Given the description of an element on the screen output the (x, y) to click on. 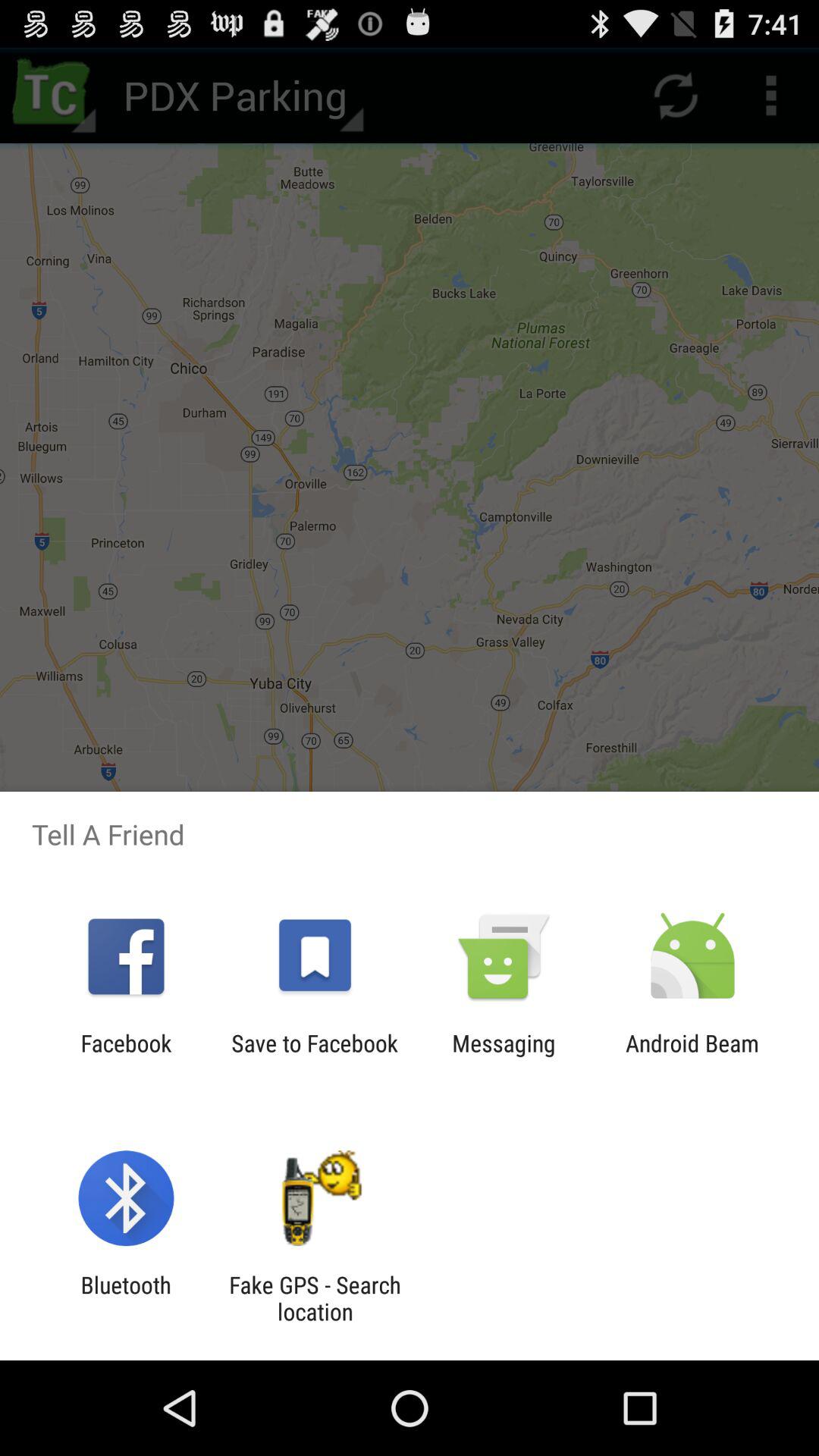
select the android beam icon (692, 1056)
